Given the description of an element on the screen output the (x, y) to click on. 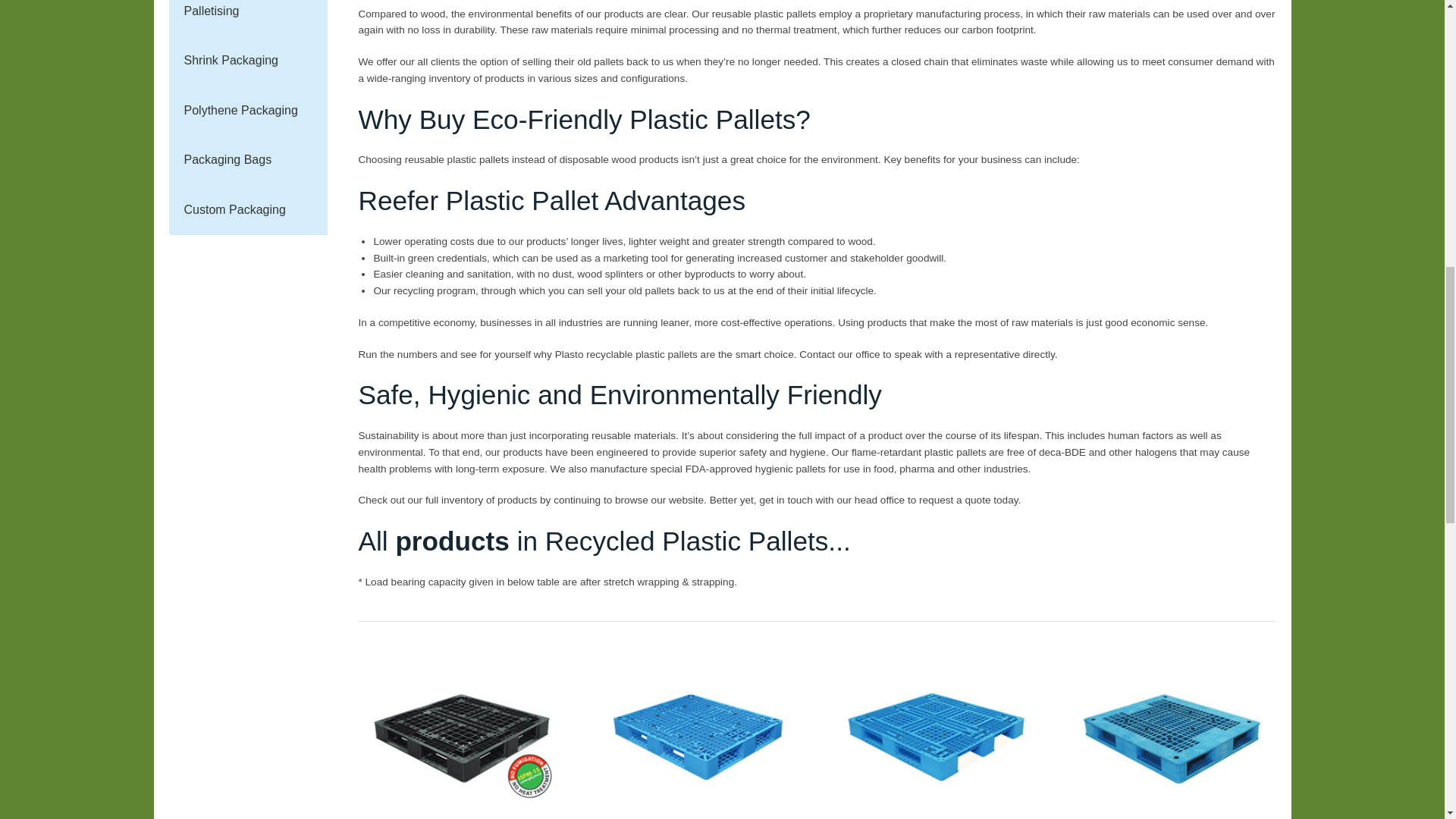
Polythene Packaging (247, 110)
Packaging Bags (247, 160)
Shrink Packaging (247, 60)
Custom Packaging (247, 210)
